Given the description of an element on the screen output the (x, y) to click on. 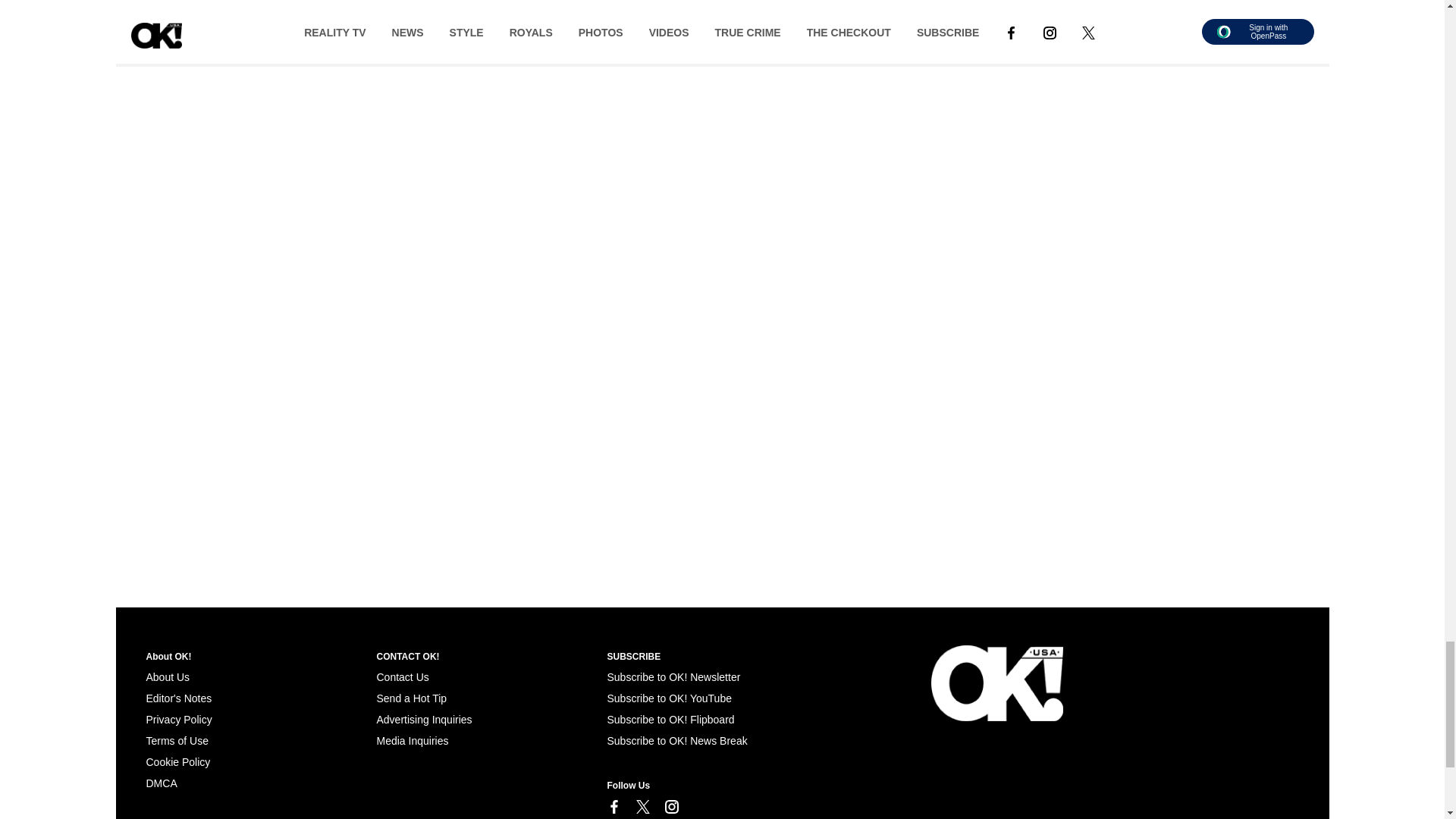
Link to Facebook (613, 807)
Cookie Policy (160, 783)
Editor's Notes (178, 698)
Link to Instagram (670, 807)
Terms of Use (176, 740)
Link to X (641, 807)
Privacy Policy (178, 719)
Cookie Policy (177, 761)
About Us (167, 676)
